Given the description of an element on the screen output the (x, y) to click on. 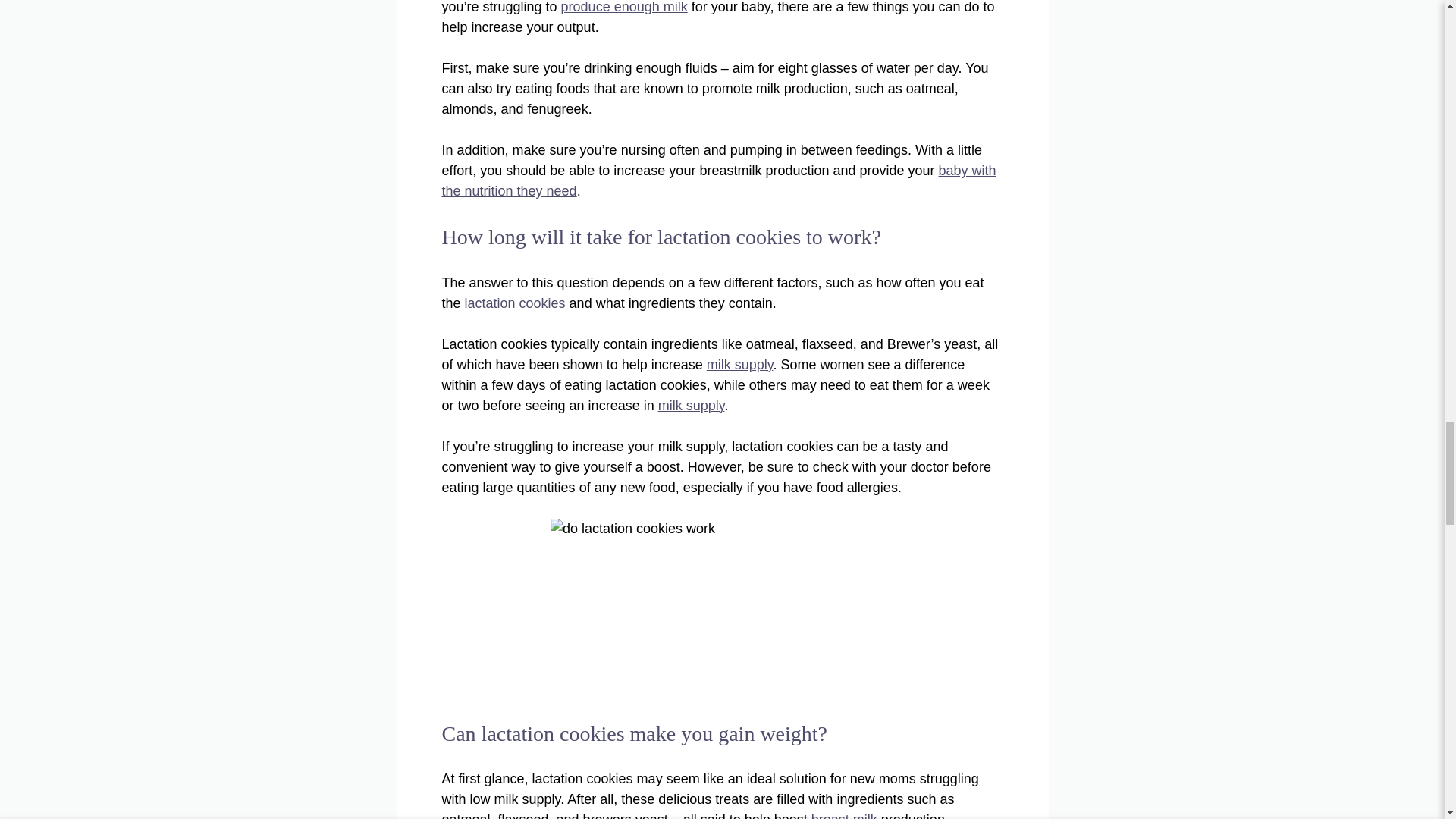
lactation cookies (515, 303)
baby with the nutrition they need (718, 180)
produce enough milk (623, 7)
milk supply (739, 364)
milk supply (691, 405)
